Given the description of an element on the screen output the (x, y) to click on. 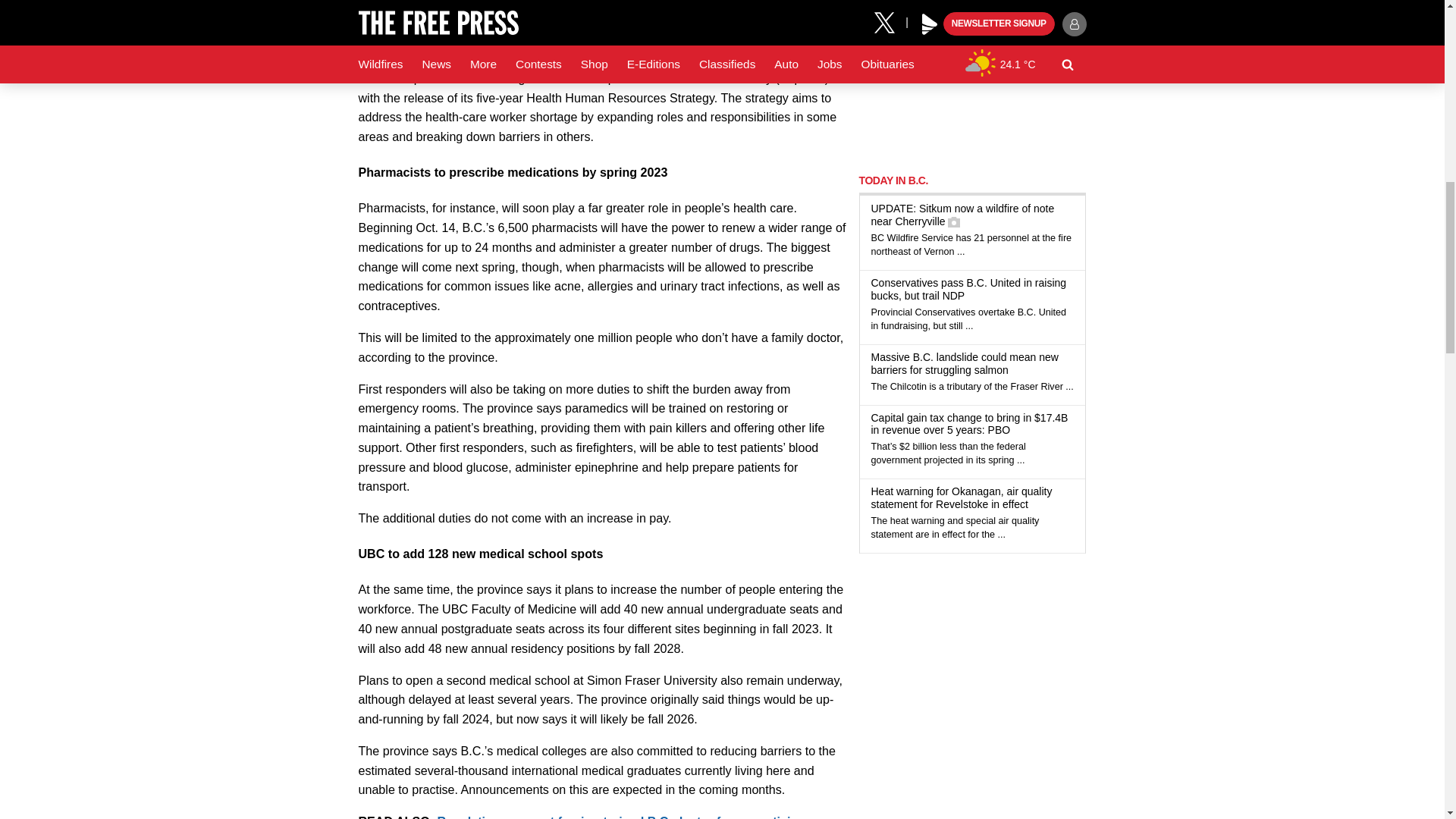
Has a gallery (953, 222)
